Given the description of an element on the screen output the (x, y) to click on. 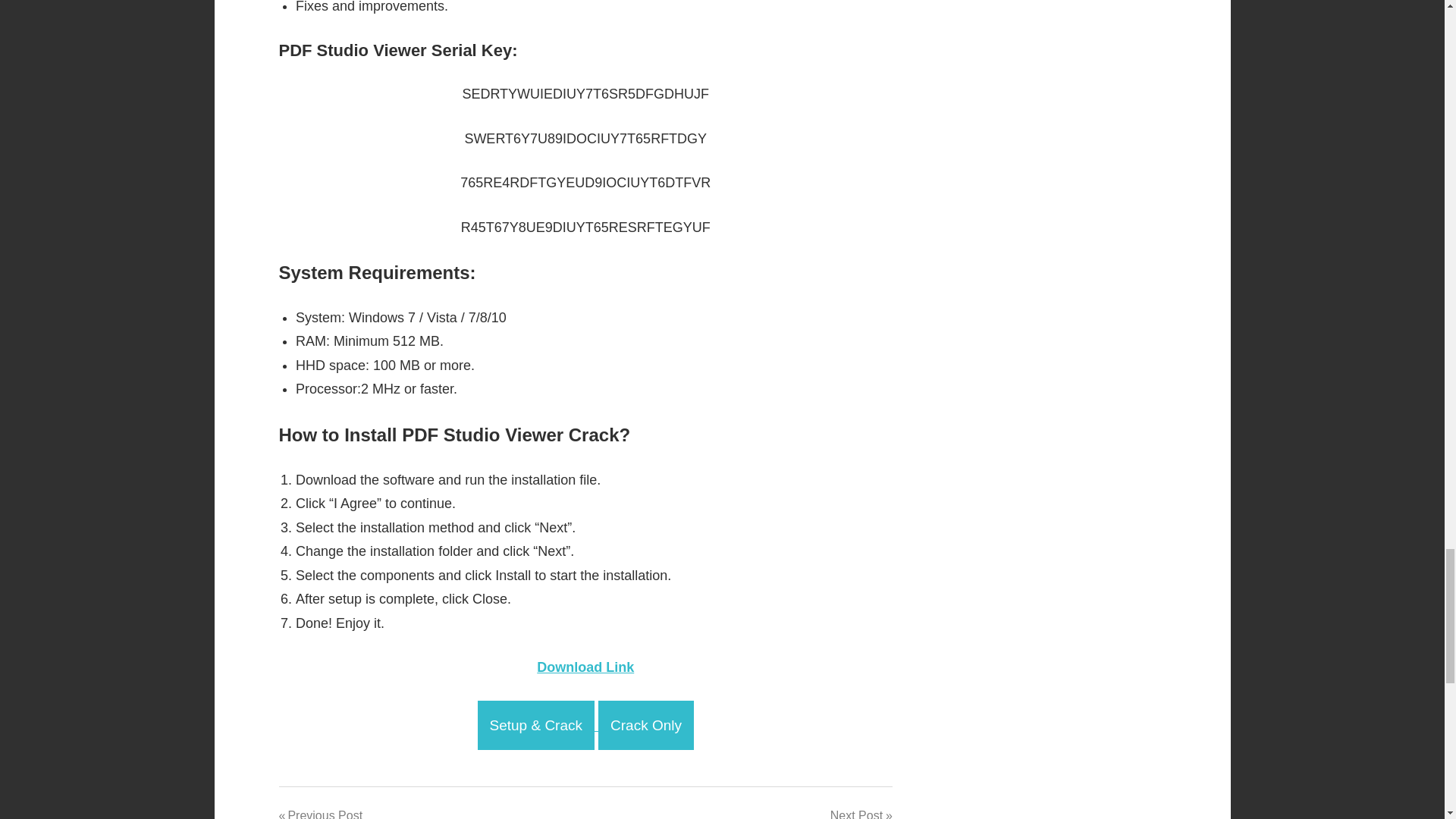
Download Link (585, 667)
Crack Only (646, 725)
